Given the description of an element on the screen output the (x, y) to click on. 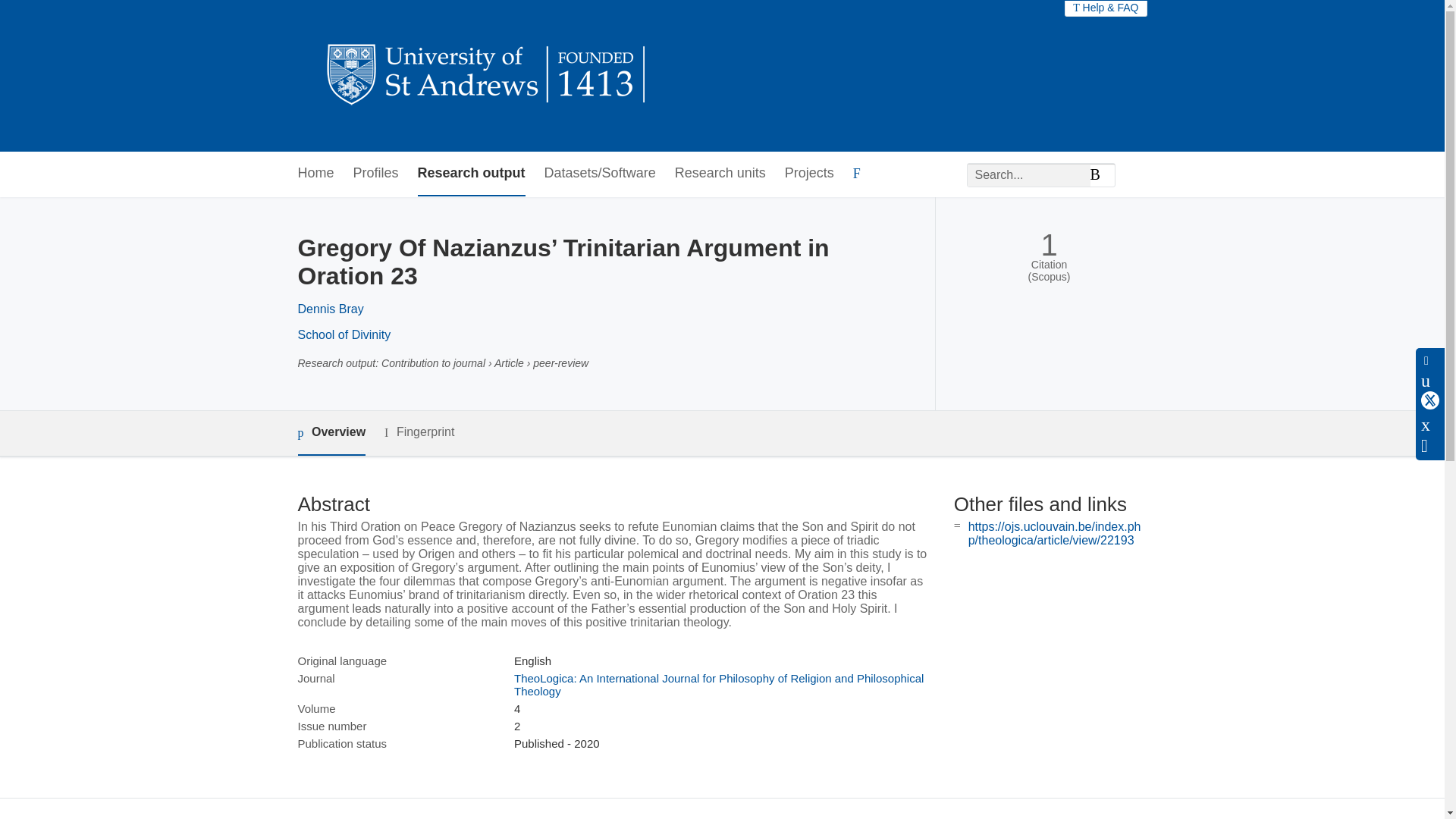
Profiles (375, 173)
University of St Andrews Research Portal Home (487, 75)
Dennis Bray (329, 308)
School of Divinity (343, 334)
Fingerprint (419, 432)
Home (315, 173)
Research units (720, 173)
Overview (331, 433)
Projects (809, 173)
Research output (471, 173)
